Given the description of an element on the screen output the (x, y) to click on. 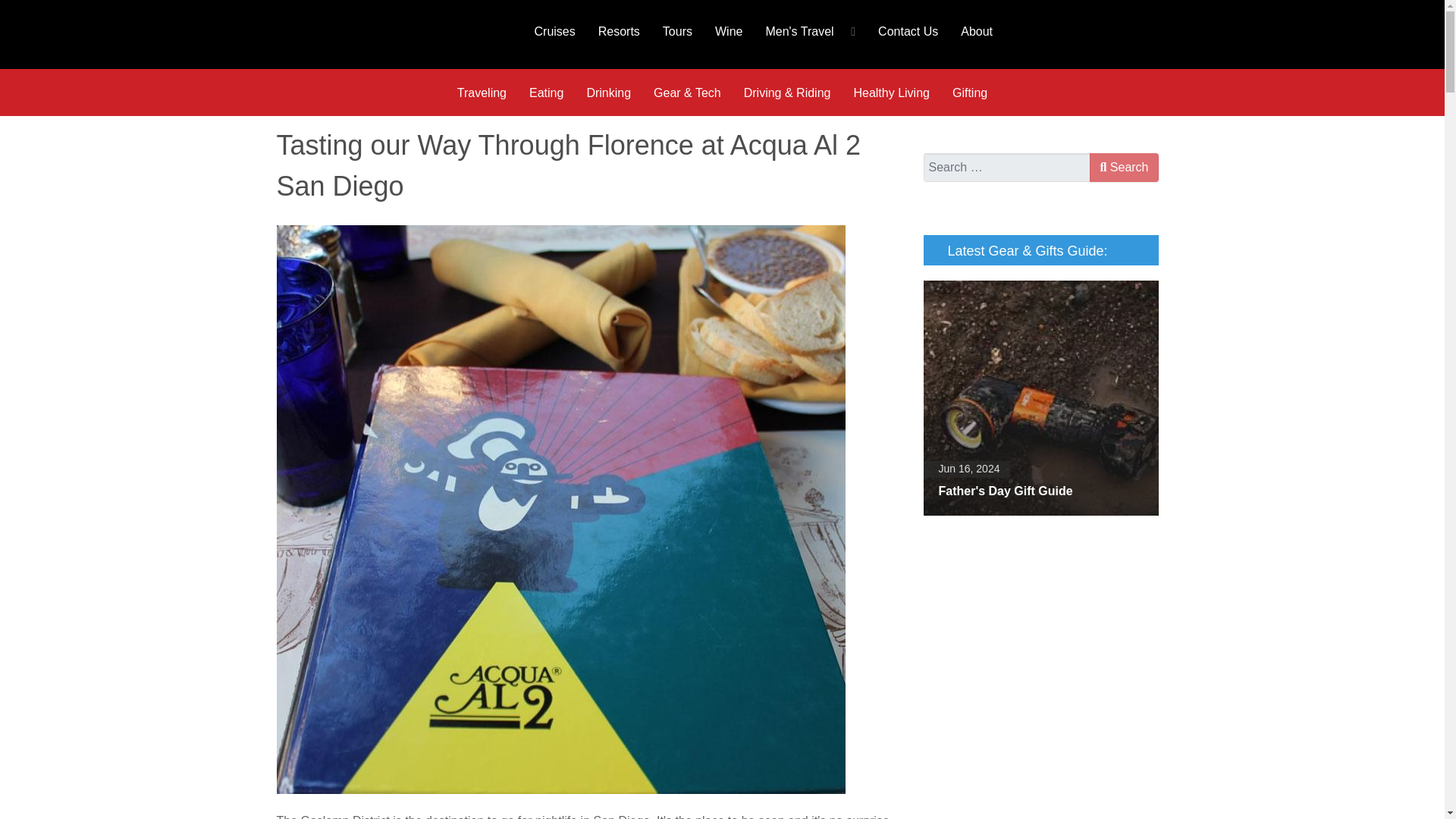
About (976, 30)
Gifting (969, 92)
Drinking (608, 92)
Healthy Living (890, 92)
Search (1123, 167)
ManTripping.com Logo (385, 34)
Cruises (554, 30)
Wine (728, 30)
Tours (676, 30)
Resorts (618, 30)
Father's Day Gift Guide (1040, 397)
Contact Us (907, 30)
Eating (546, 92)
Traveling (481, 92)
Contact Us (907, 30)
